Given the description of an element on the screen output the (x, y) to click on. 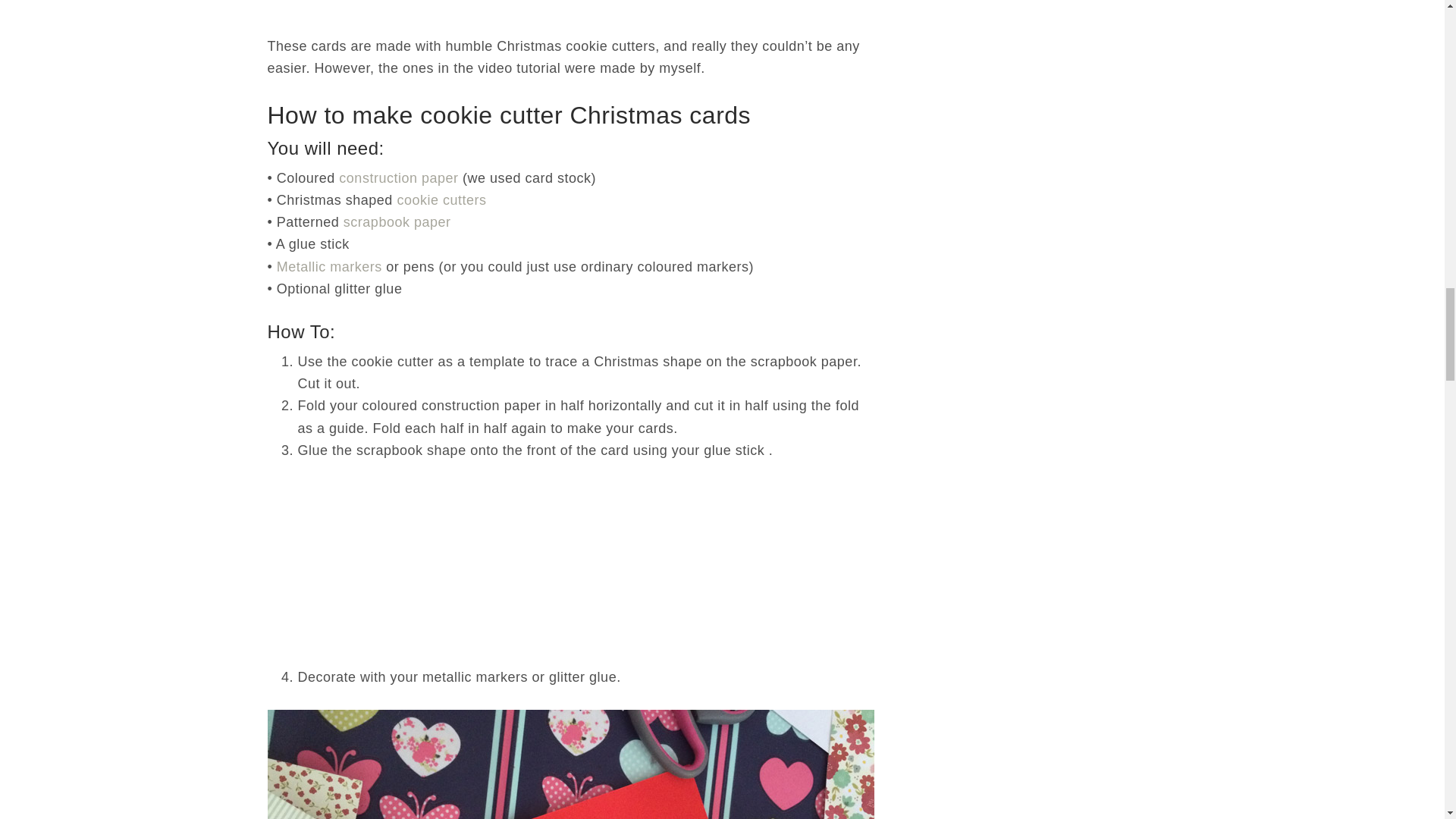
scrapbook paper (397, 222)
cookie cutters (441, 200)
construction paper (398, 177)
Metallic markers (328, 266)
